Given the description of an element on the screen output the (x, y) to click on. 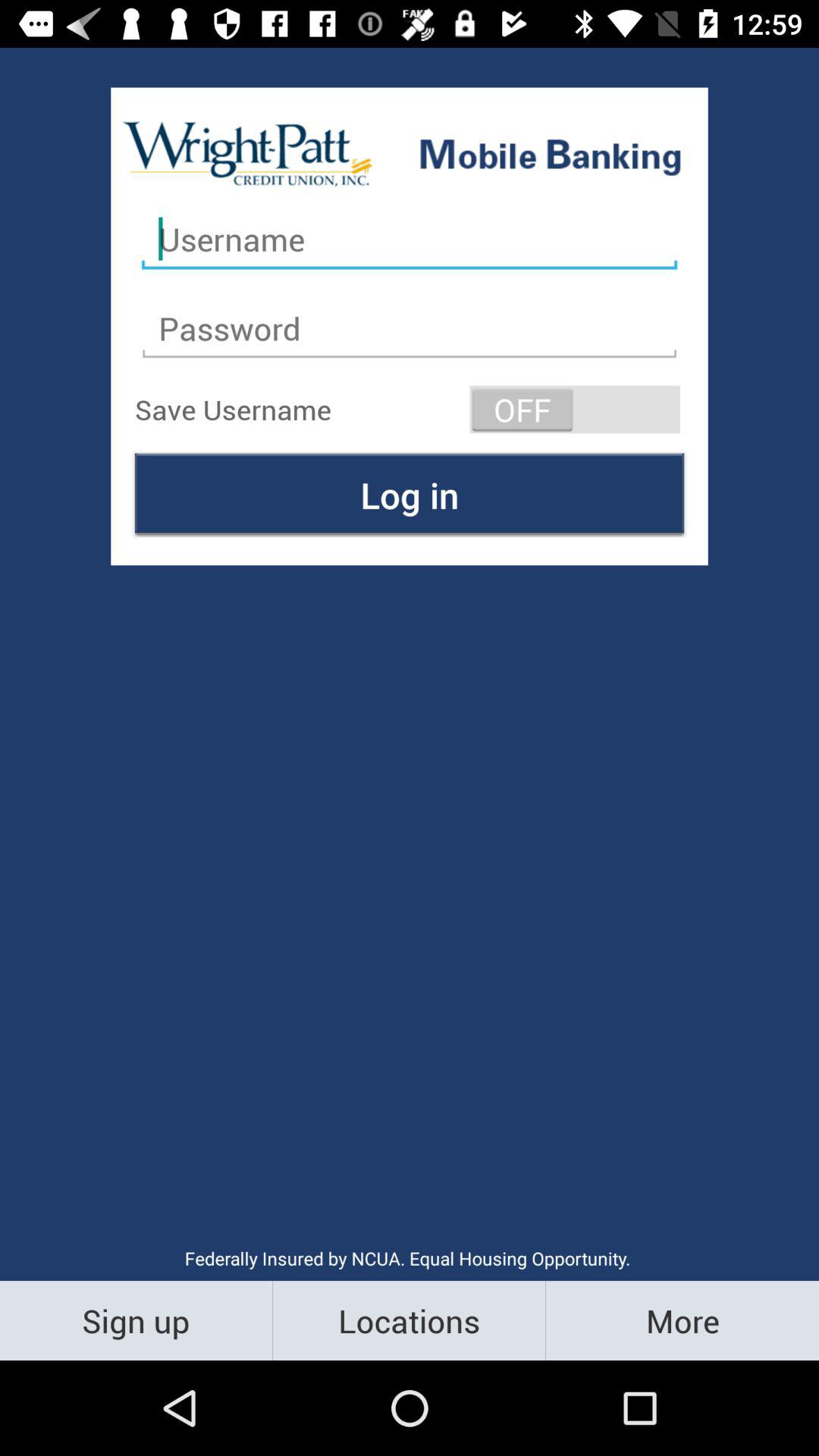
swipe until locations icon (409, 1320)
